Given the description of an element on the screen output the (x, y) to click on. 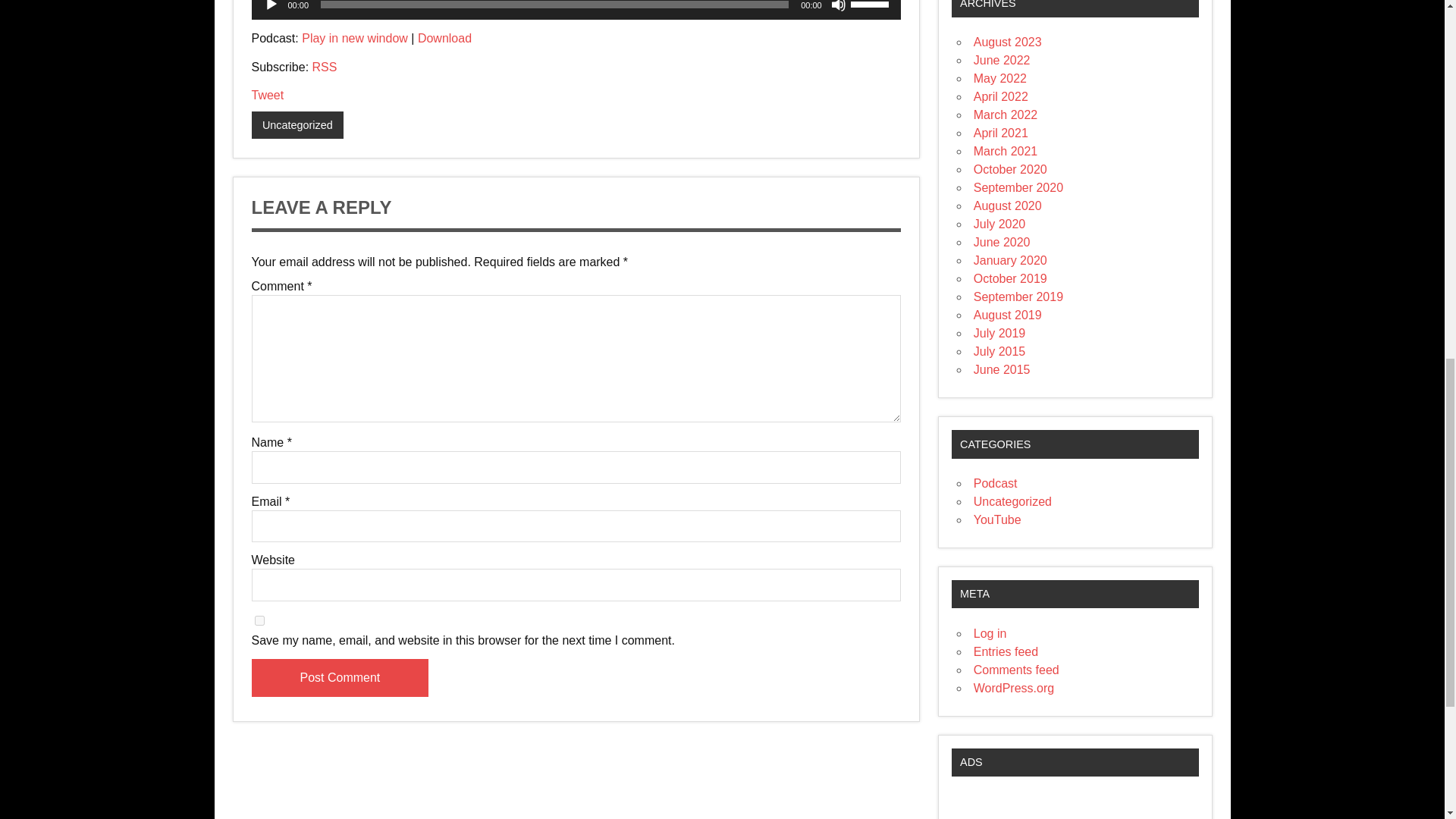
Download (444, 38)
May 2022 (1000, 78)
Uncategorized (297, 124)
October 2020 (1010, 169)
Post Comment (340, 677)
Post Comment (340, 677)
June 2022 (1002, 60)
Play (271, 6)
Download (444, 38)
Mute (838, 6)
March 2021 (1006, 151)
Tweet (267, 94)
RSS (325, 66)
Play in new window (354, 38)
Play in new window (354, 38)
